Given the description of an element on the screen output the (x, y) to click on. 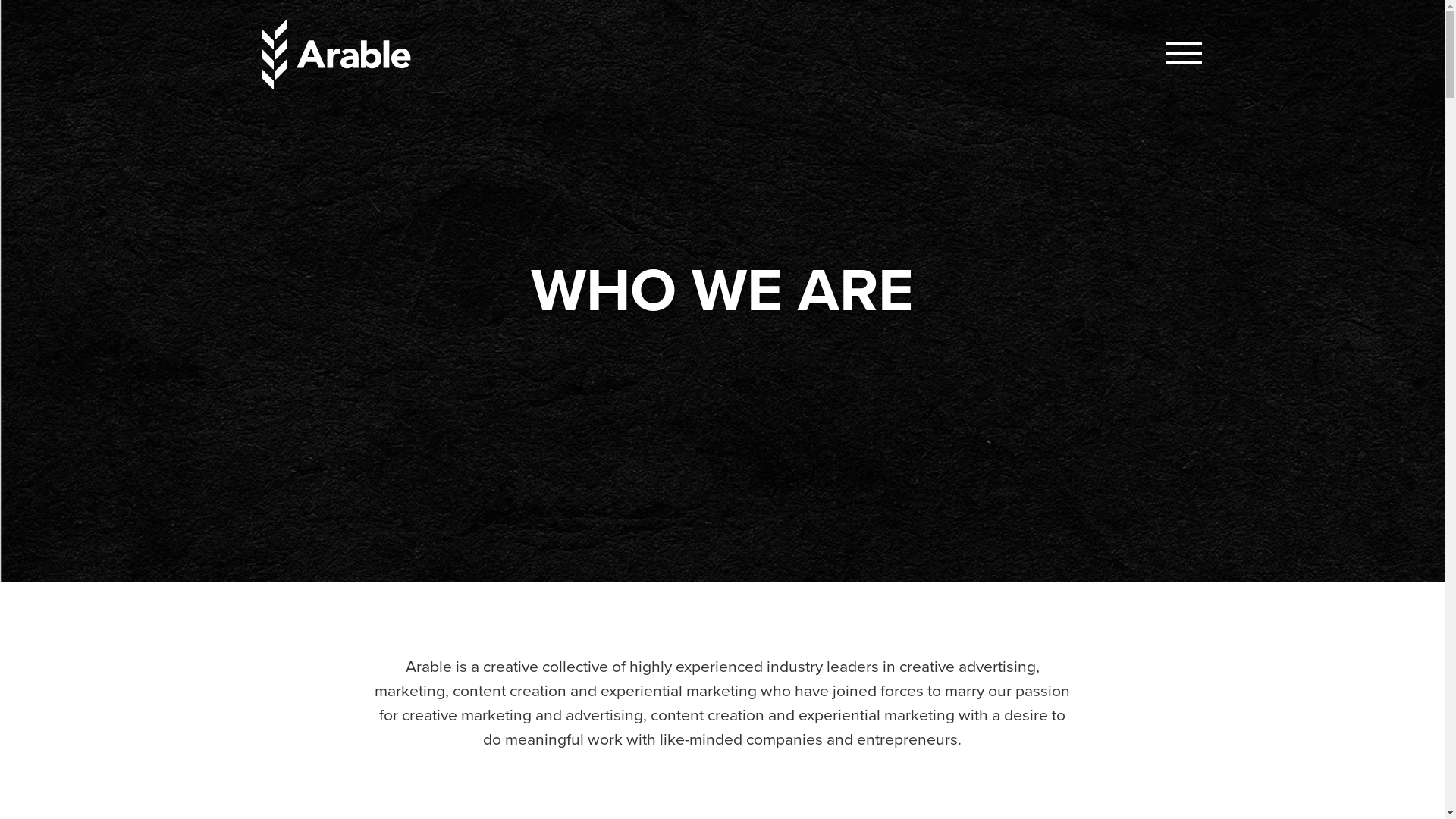
Return Home Element type: hover (338, 54)
